Given the description of an element on the screen output the (x, y) to click on. 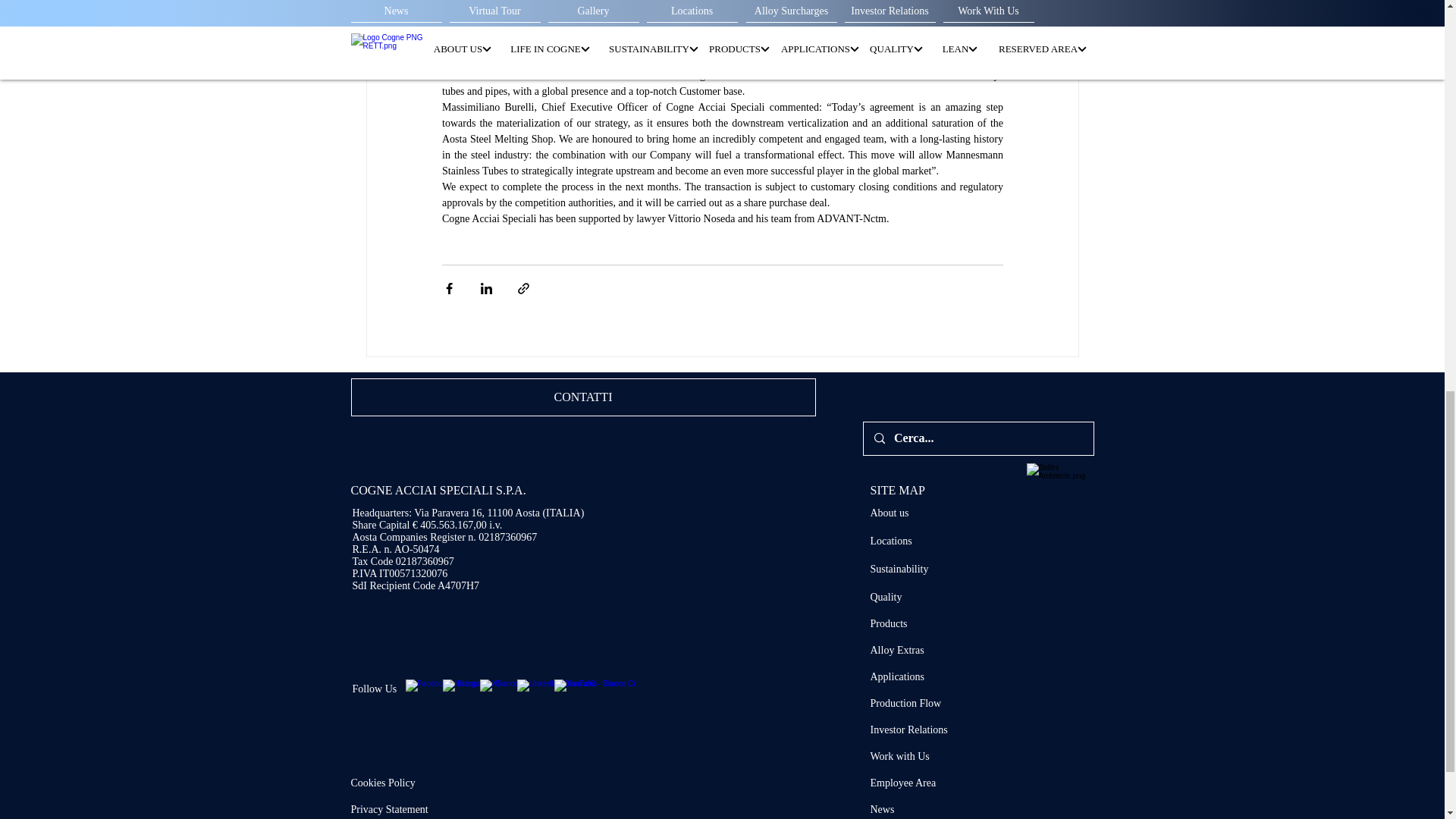
Privacy Statement (389, 808)
About us (889, 512)
Cookies Policy (382, 782)
CONTATTI (582, 397)
Follow Us (374, 688)
Quality (886, 596)
COGNE ACCIAI SPECIALI S.P.A. (437, 490)
Locations (891, 541)
Sustainability (899, 568)
